Given the description of an element on the screen output the (x, y) to click on. 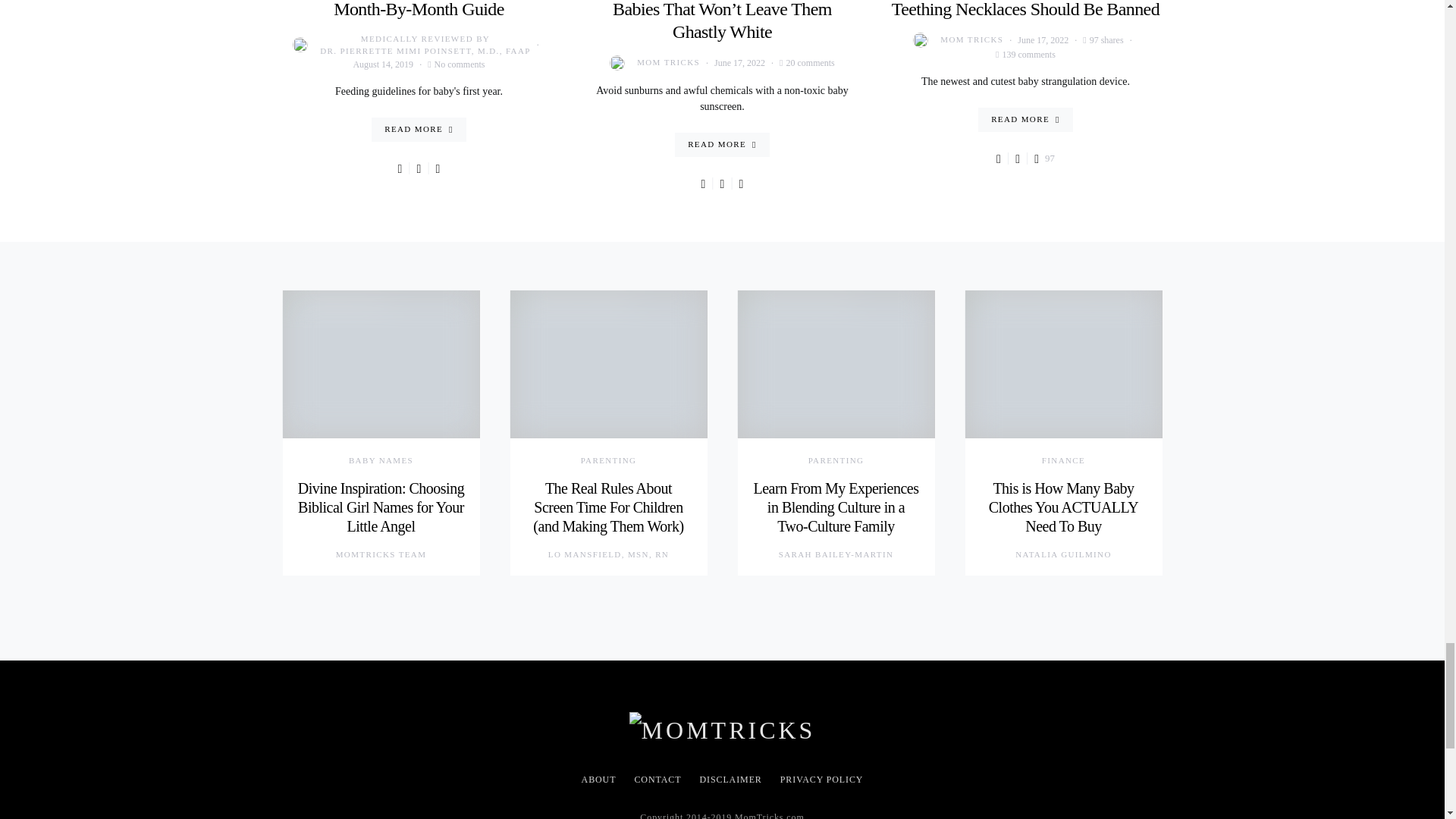
View all posts by Mom Tricks (957, 39)
View all posts by MomTricks Team (381, 554)
View all posts by Dr. Pierrette Mimi Poinsett, M.D., FAAP (411, 44)
View all posts by Mom Tricks (655, 62)
View all posts by Lo Mansfield, MSN, RN (608, 554)
This is How Many Baby Clothes You ACTUALLY Need To Buy (1063, 506)
View all posts by Sarah Bailey-Martin (835, 554)
